Given the description of an element on the screen output the (x, y) to click on. 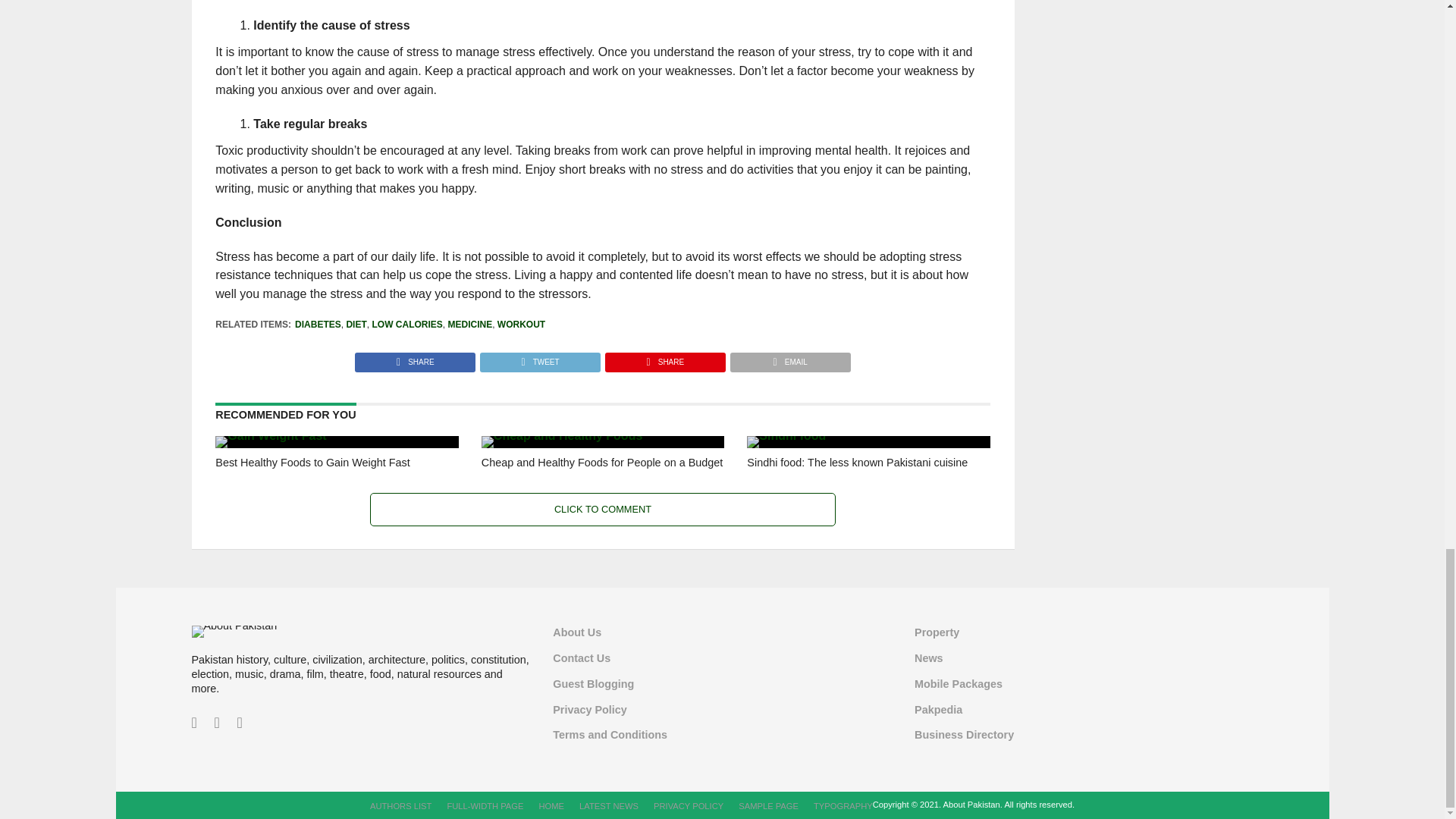
Cheap and Healthy Foods for People on a Budget (561, 435)
Pin This Post (664, 358)
Tweet This Post (539, 358)
Share on Facebook (415, 358)
